Given the description of an element on the screen output the (x, y) to click on. 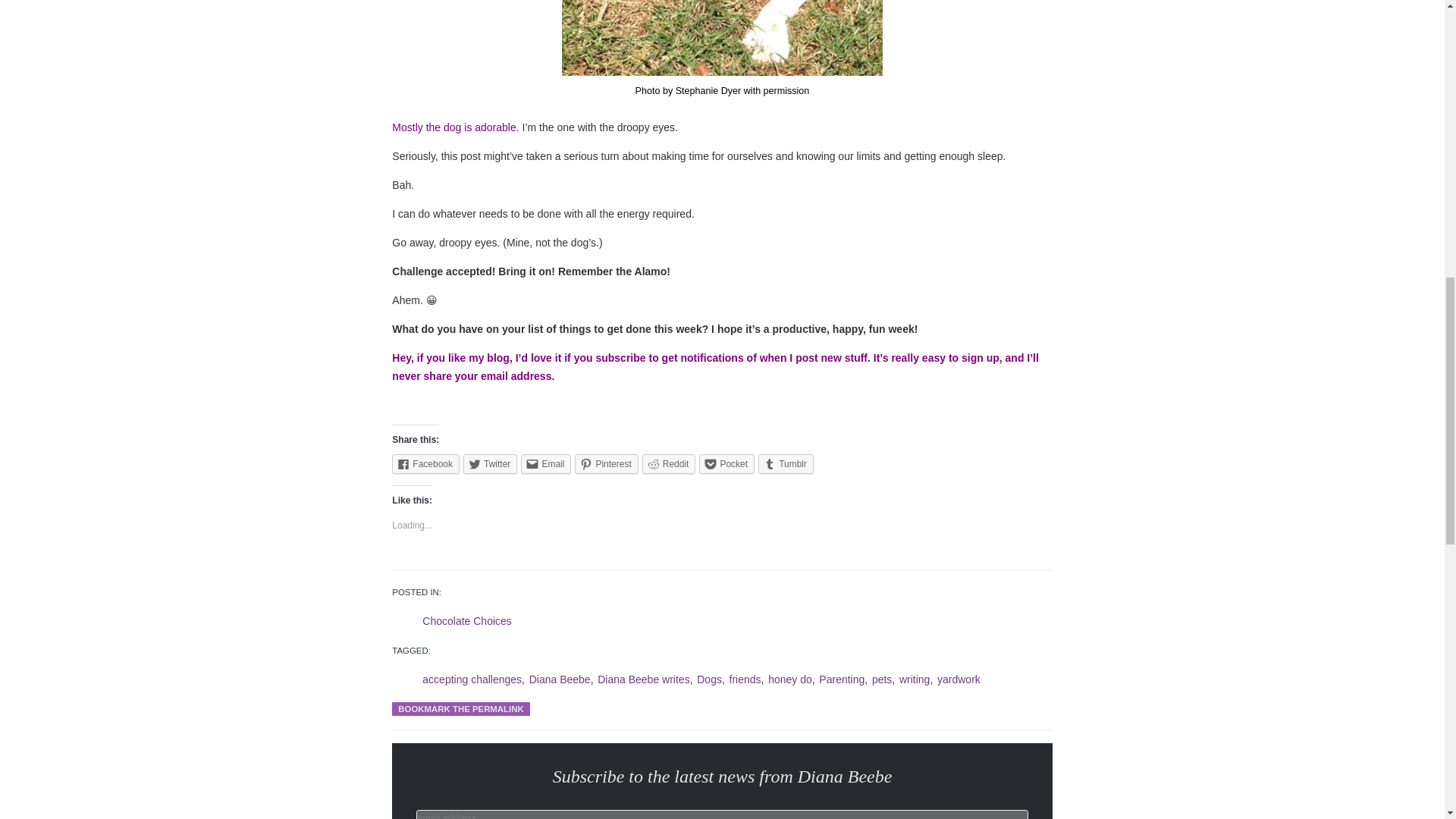
Chocolate Choices (467, 621)
Reddit (668, 464)
Click to share on Twitter (489, 464)
Click to share on Facebook (425, 464)
Tumblr (785, 464)
Permalink to Challenge Accepted! (460, 708)
Click to share on Pocket (726, 464)
Click to share on Reddit (668, 464)
Click to share on Tumblr (785, 464)
Diana Beebe (560, 679)
Pocket (726, 464)
Facebook (425, 464)
Twitter (489, 464)
Diana Beebe writes (642, 679)
Click to share on Pinterest (606, 464)
